Given the description of an element on the screen output the (x, y) to click on. 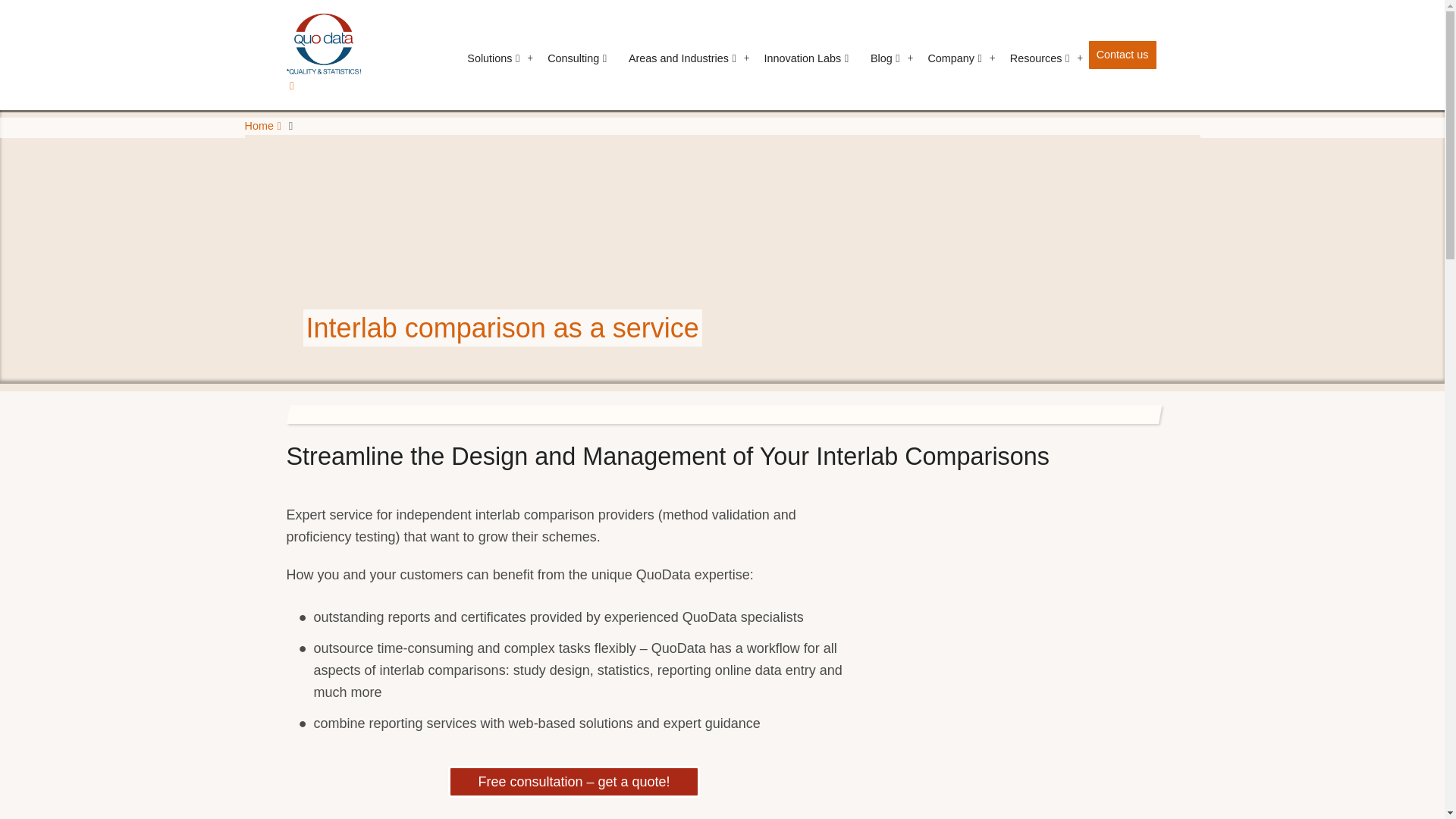
Home (323, 52)
Solutions (493, 58)
Consulting (577, 58)
Company (954, 58)
Areas and Industries (682, 58)
Innovation Labs (806, 58)
Blog (885, 58)
